Given the description of an element on the screen output the (x, y) to click on. 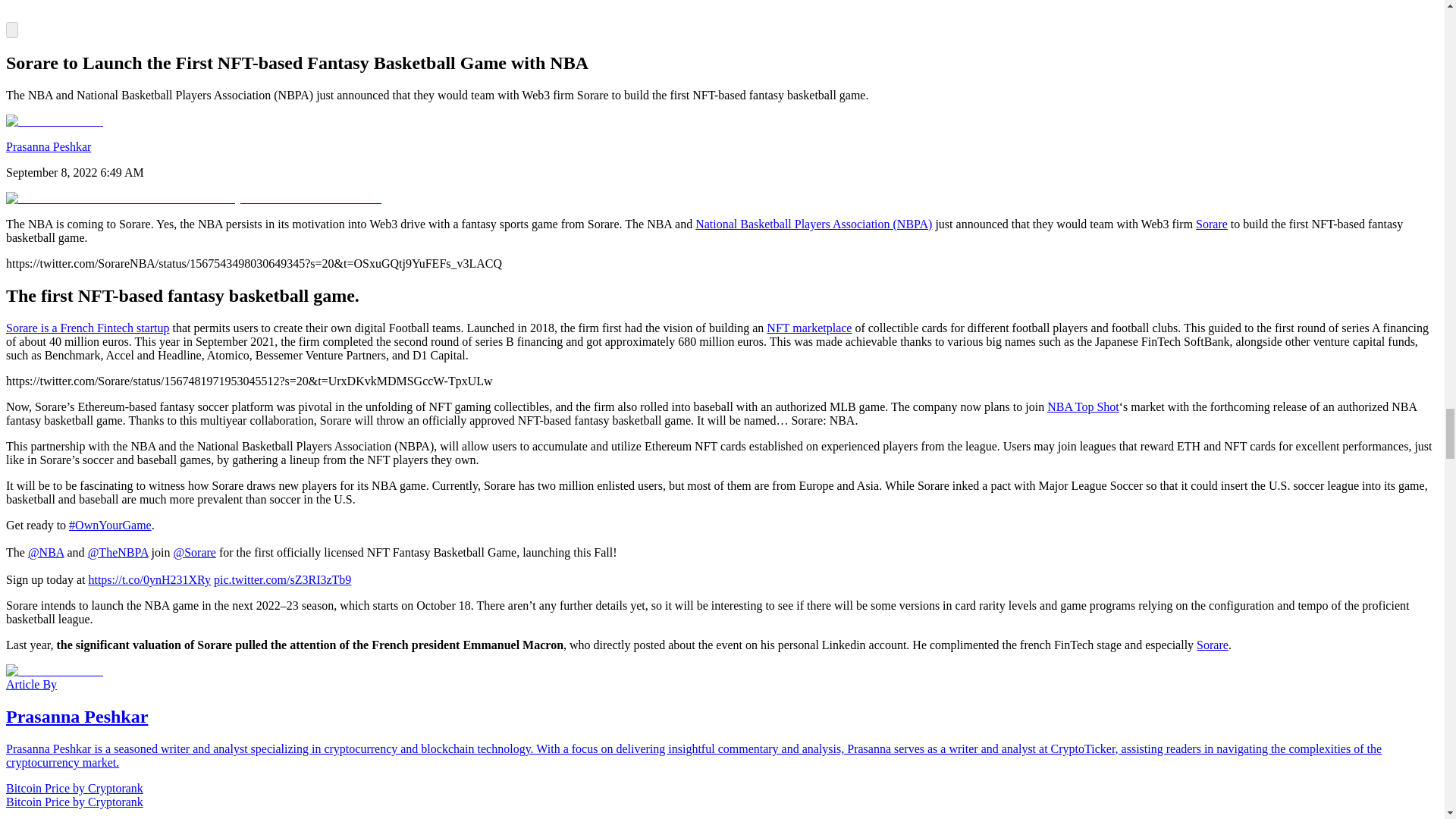
Bitcoin Price by Cryptorank (73, 788)
NFT marketplace (809, 327)
Bitcoin Price by Cryptorank (73, 801)
Sorare is a French Fintech startup (87, 327)
NBA Top Shot (1082, 406)
Sorare (1211, 223)
Sorare (1212, 644)
